Given the description of an element on the screen output the (x, y) to click on. 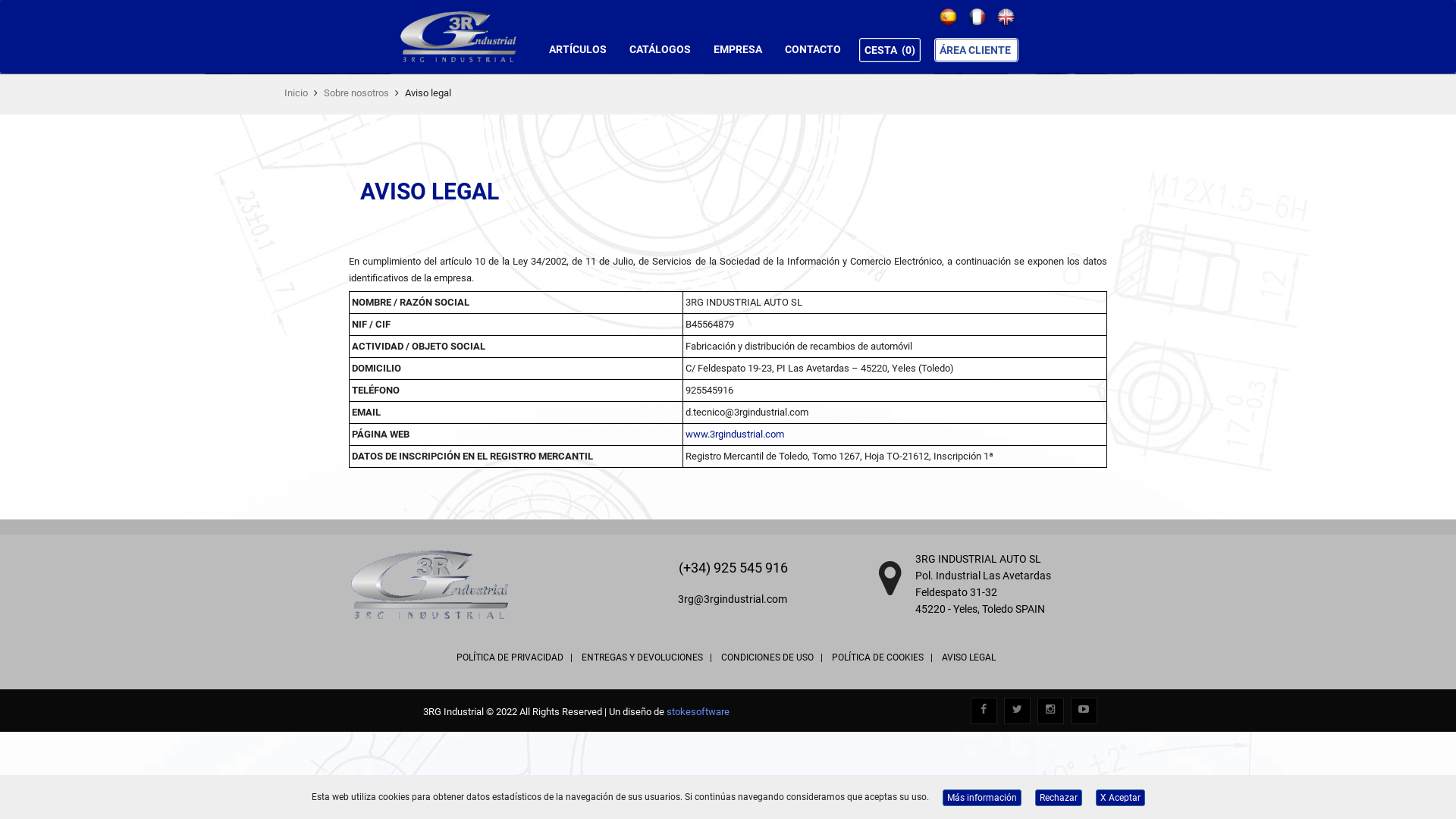
www.3rgindustrial.com Element type: text (734, 433)
Rechazar Element type: text (1057, 797)
 (+34) 925 545 916 Element type: text (731, 567)
X Aceptar Element type: text (1119, 797)
Sobre nosotros Element type: text (356, 92)
EMPRESA Element type: text (737, 48)
CONTACTO Element type: text (812, 48)
stokesoftware Element type: text (697, 710)
Inicio Element type: text (295, 92)
CESTA  (0) Element type: text (889, 49)
  AVISO LEGAL   Element type: text (968, 657)
  ENTREGAS Y DEVOLUCIONES   |   Element type: text (645, 657)
  CONDICIONES DE USO   |   Element type: text (770, 657)
